Given the description of an element on the screen output the (x, y) to click on. 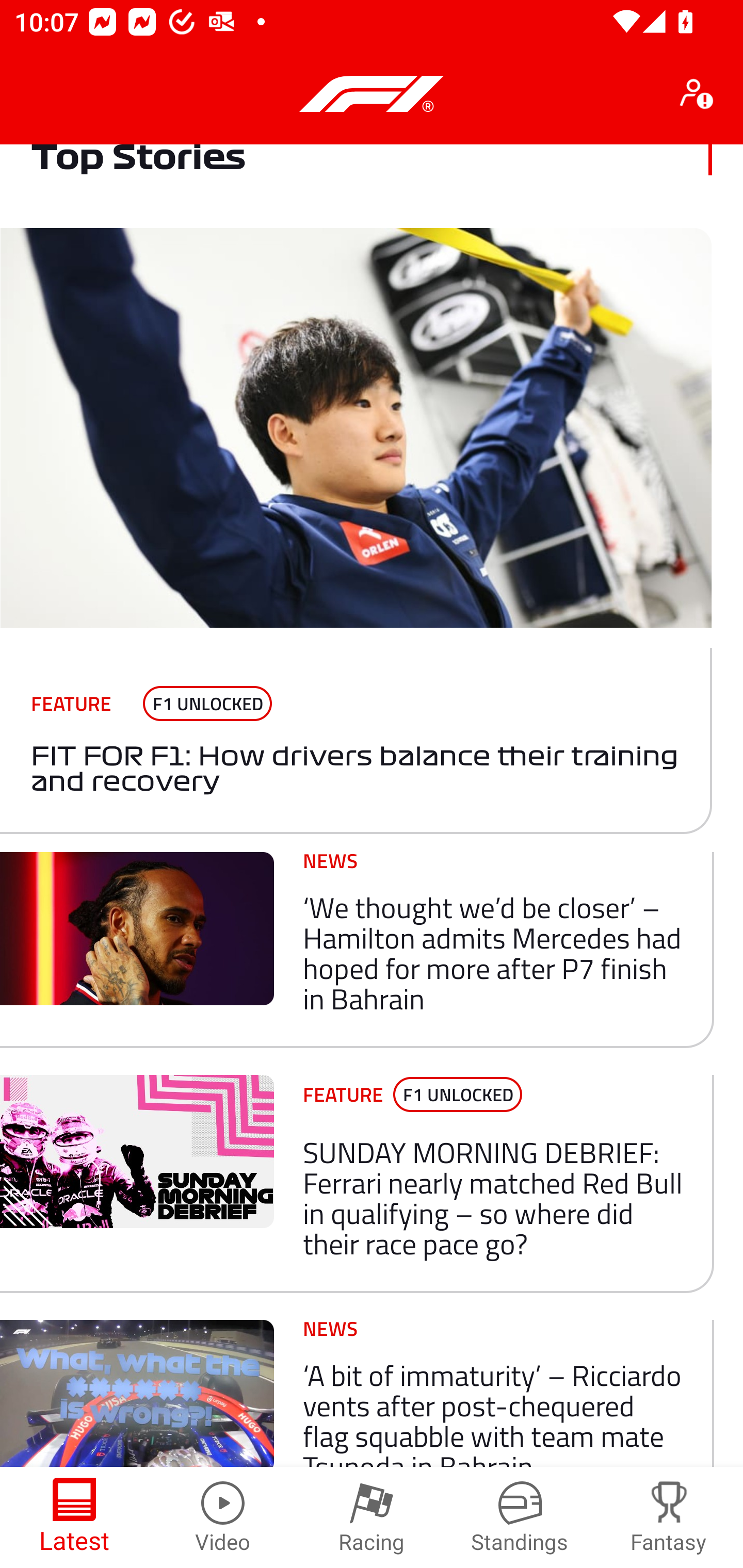
Video (222, 1517)
Racing (371, 1517)
Standings (519, 1517)
Fantasy (668, 1517)
